Given the description of an element on the screen output the (x, y) to click on. 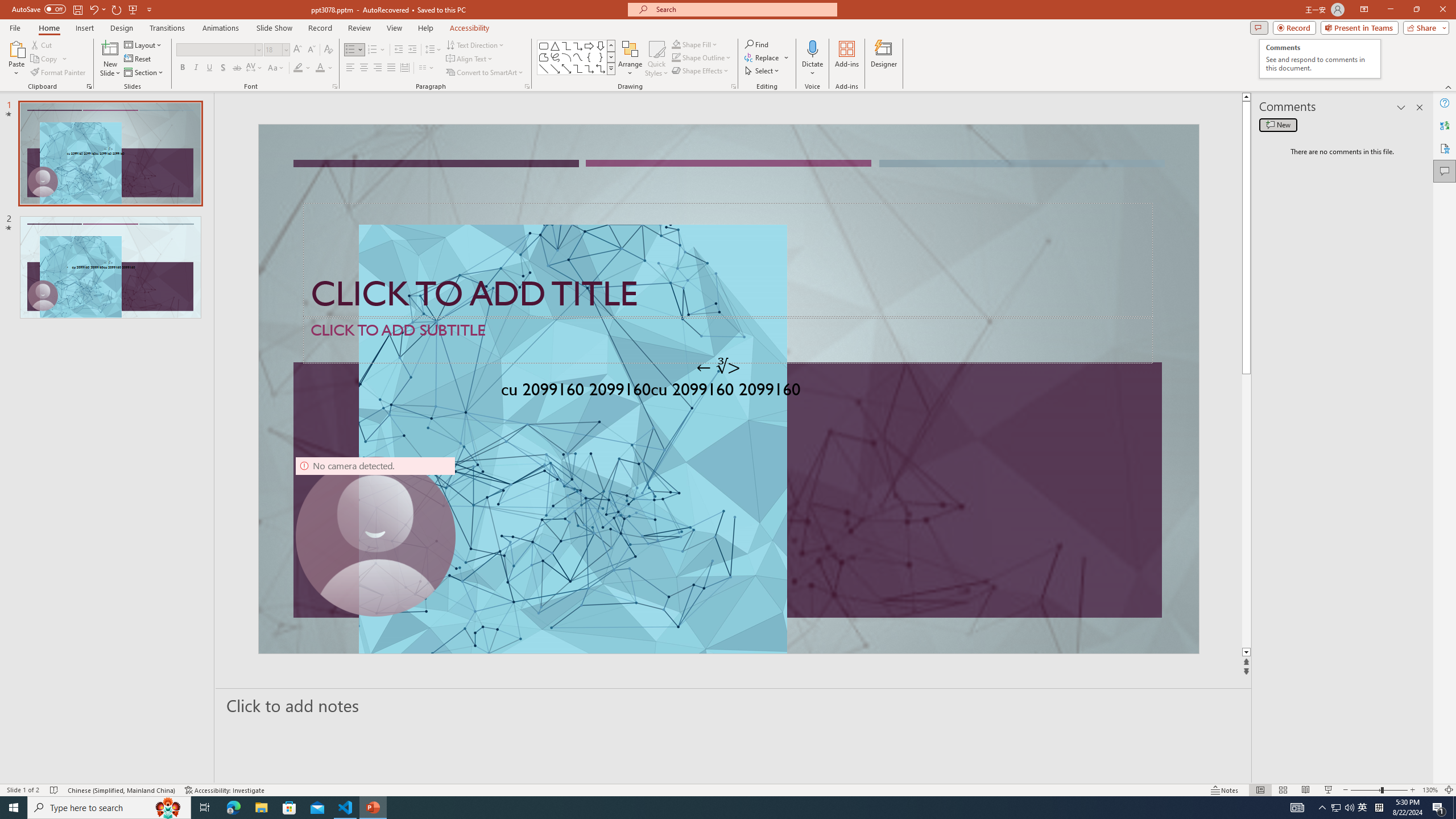
Subtitle TextBox (727, 339)
Connector: Elbow Double-Arrow (600, 68)
An abstract genetic concept (728, 388)
New comment (1278, 124)
